Given the description of an element on the screen output the (x, y) to click on. 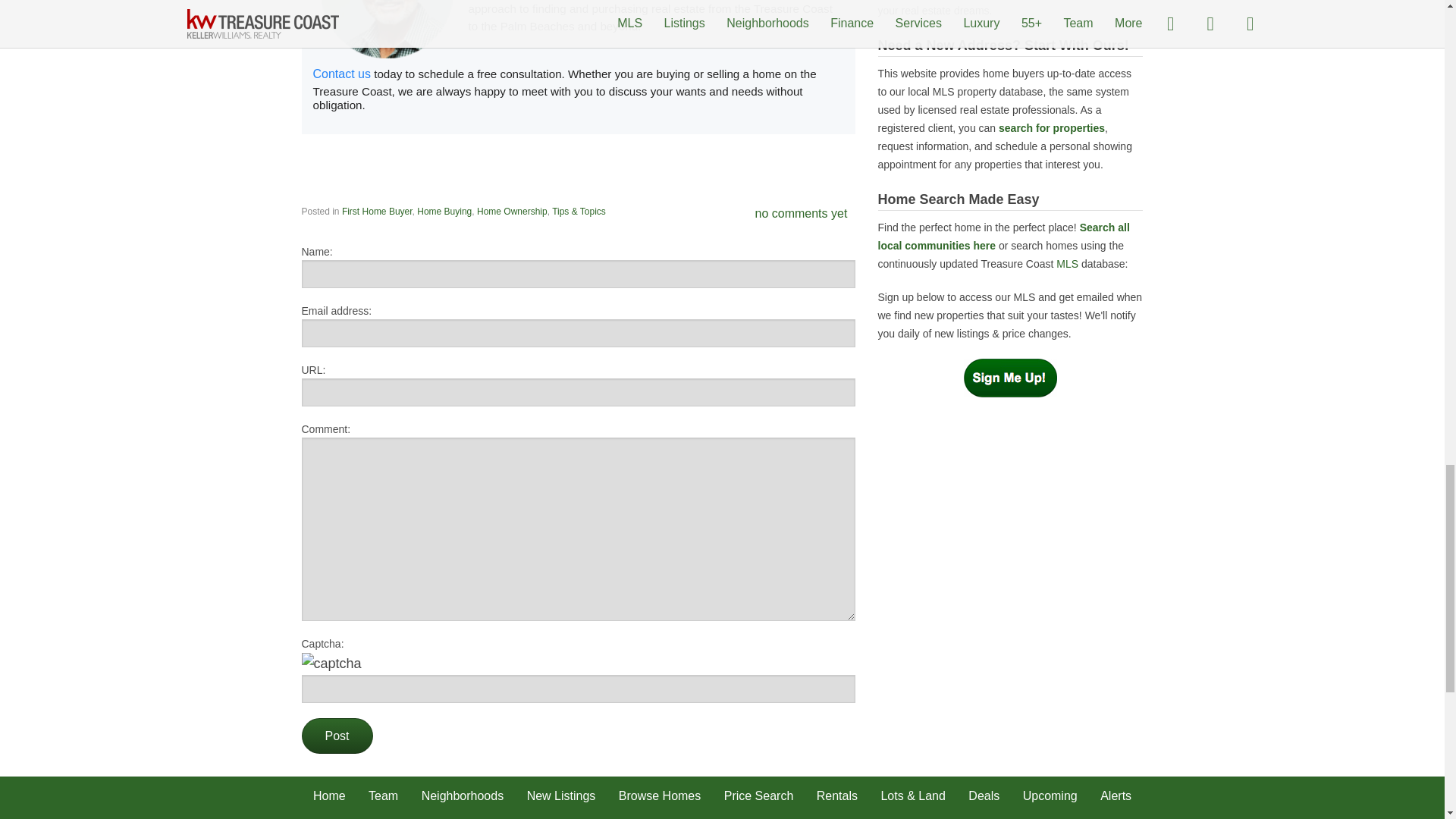
First Home Buyer (377, 211)
Post (336, 736)
Search iur local MLS database. (1067, 263)
Post (336, 736)
no comments yet (801, 213)
Home Search Sign Up (1009, 377)
Home Ownership (512, 211)
Advanced Home Search (1051, 128)
Contact us (341, 73)
Home Buying (443, 211)
